Given the description of an element on the screen output the (x, y) to click on. 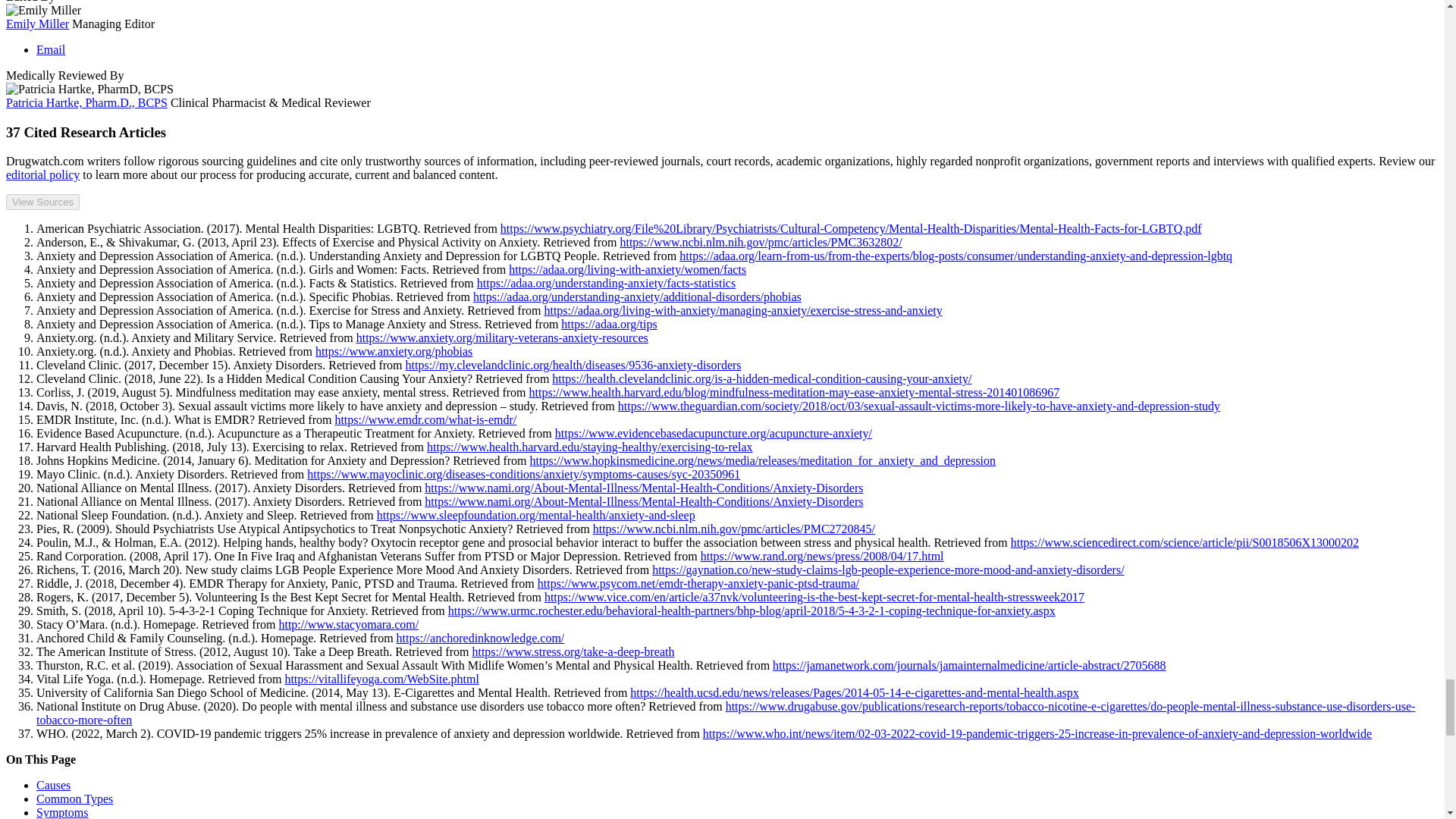
Symptoms (61, 812)
Causes (52, 784)
Common Types (74, 798)
